Given the description of an element on the screen output the (x, y) to click on. 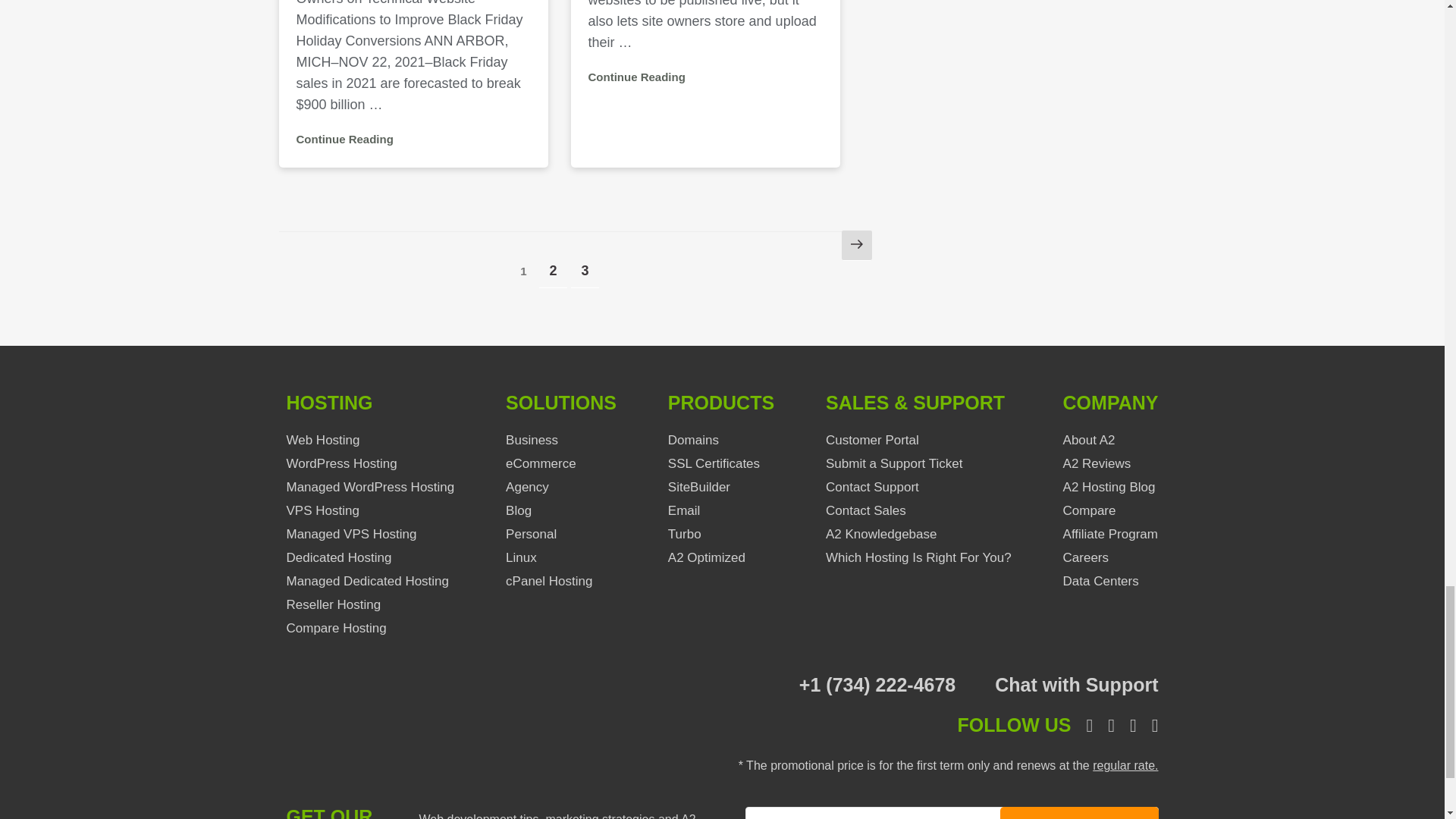
SIGN UP (1077, 812)
